Given the description of an element on the screen output the (x, y) to click on. 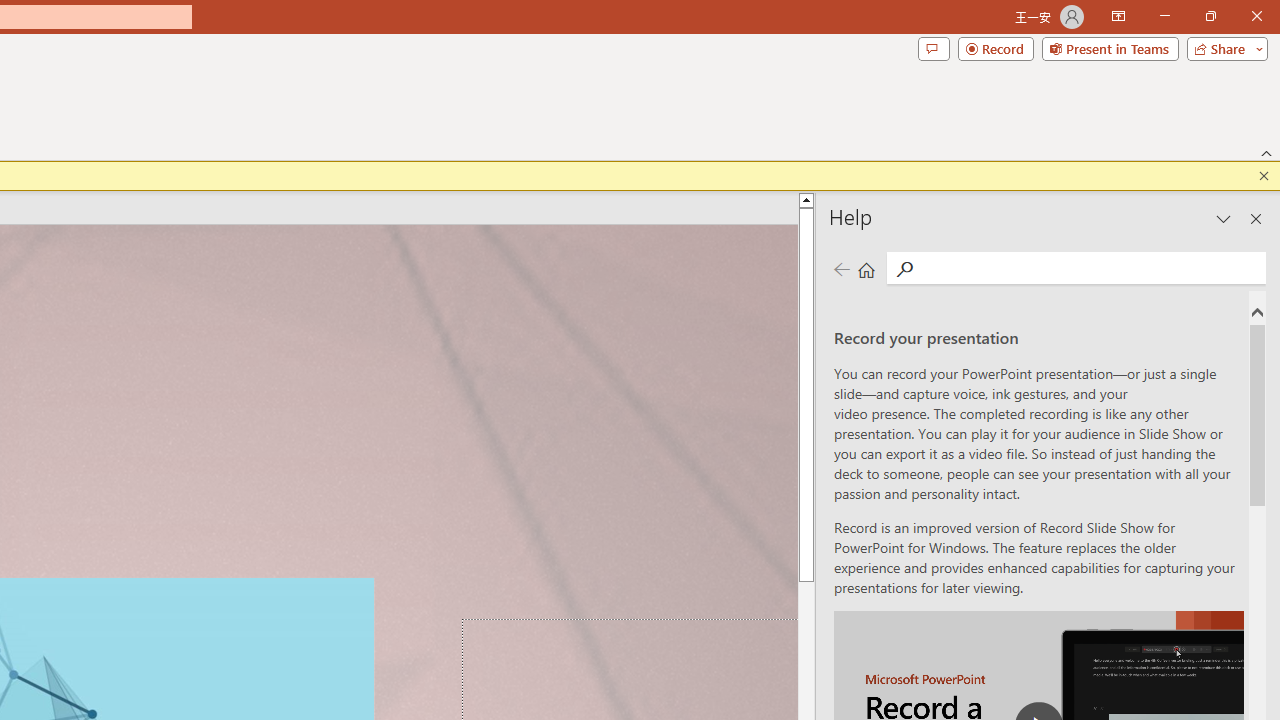
Close this message (1263, 176)
